Given the description of an element on the screen output the (x, y) to click on. 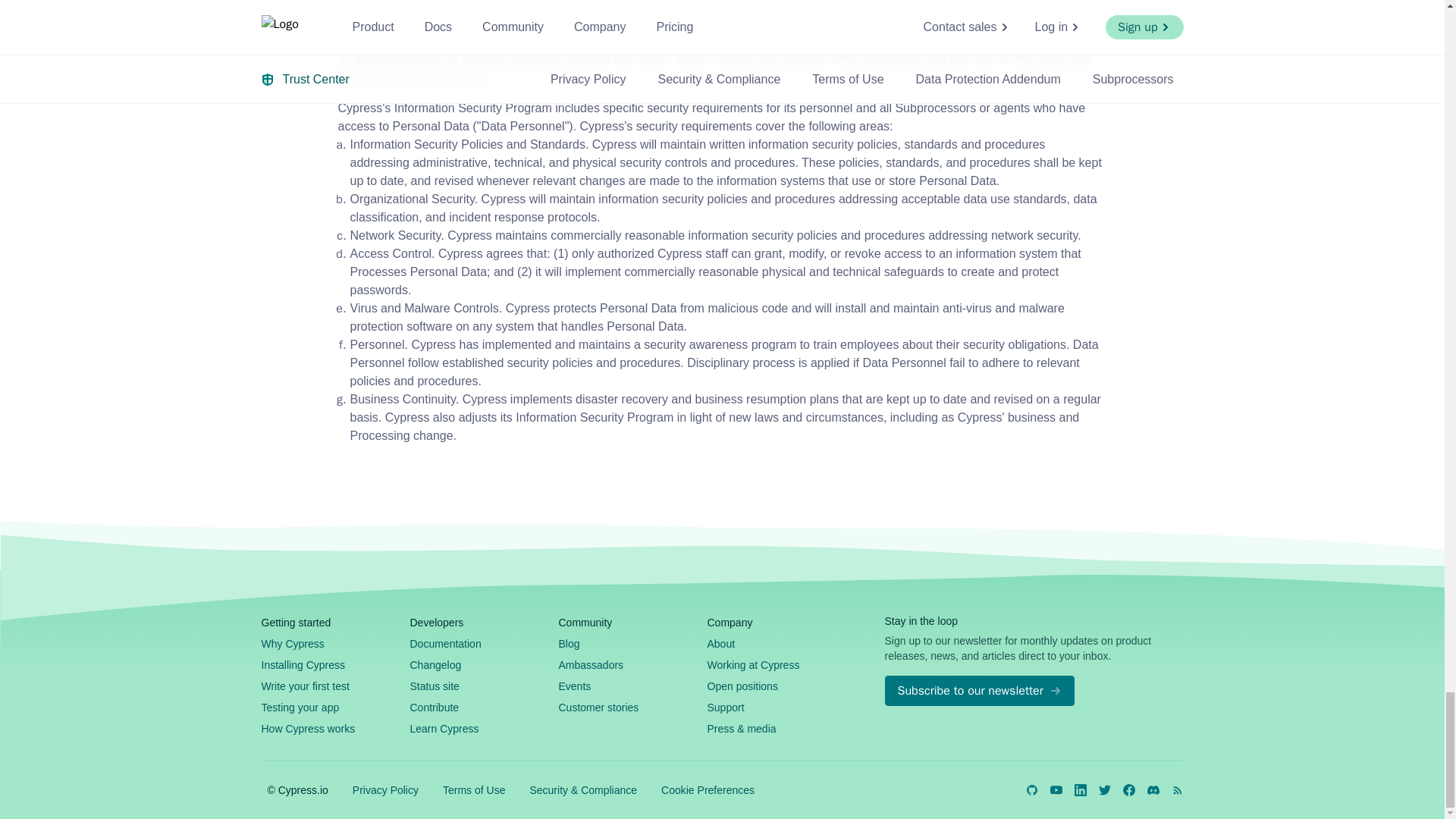
RSS (1176, 789)
Site map (533, 675)
